Given the description of an element on the screen output the (x, y) to click on. 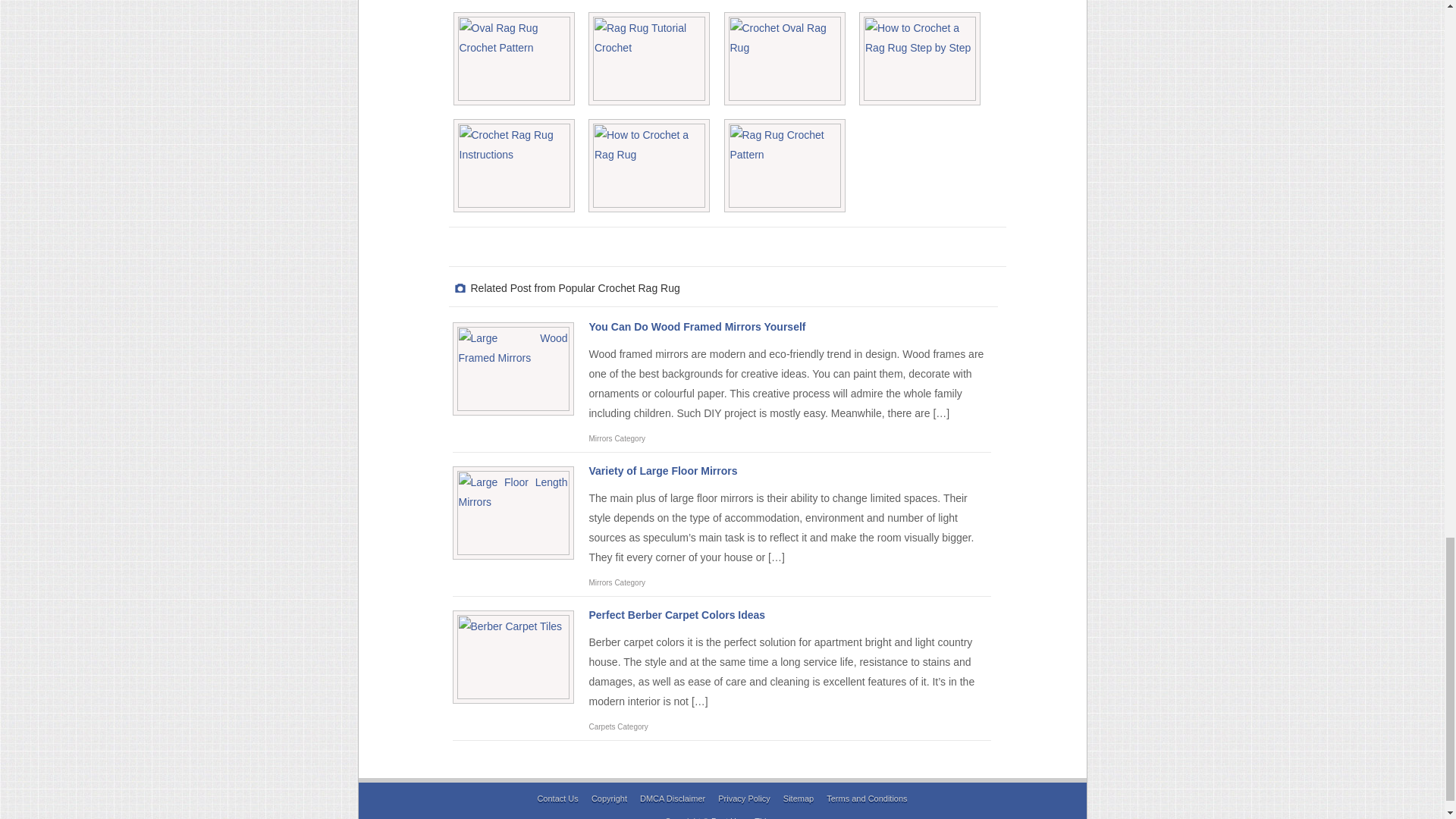
Sitemap (798, 798)
Privacy Policy (743, 798)
Perfect Berber Carpet Colors Ideas (676, 614)
You Can Do Wood Framed Mirrors Yourself (696, 326)
Terms and Conditions (867, 798)
Contact Us (557, 798)
Perfect Berber Carpet Colors Ideas (676, 614)
Variety of Large Floor Mirrors (662, 470)
Copyright (609, 798)
You Can Do Wood Framed Mirrors Yourself (696, 326)
